Given the description of an element on the screen output the (x, y) to click on. 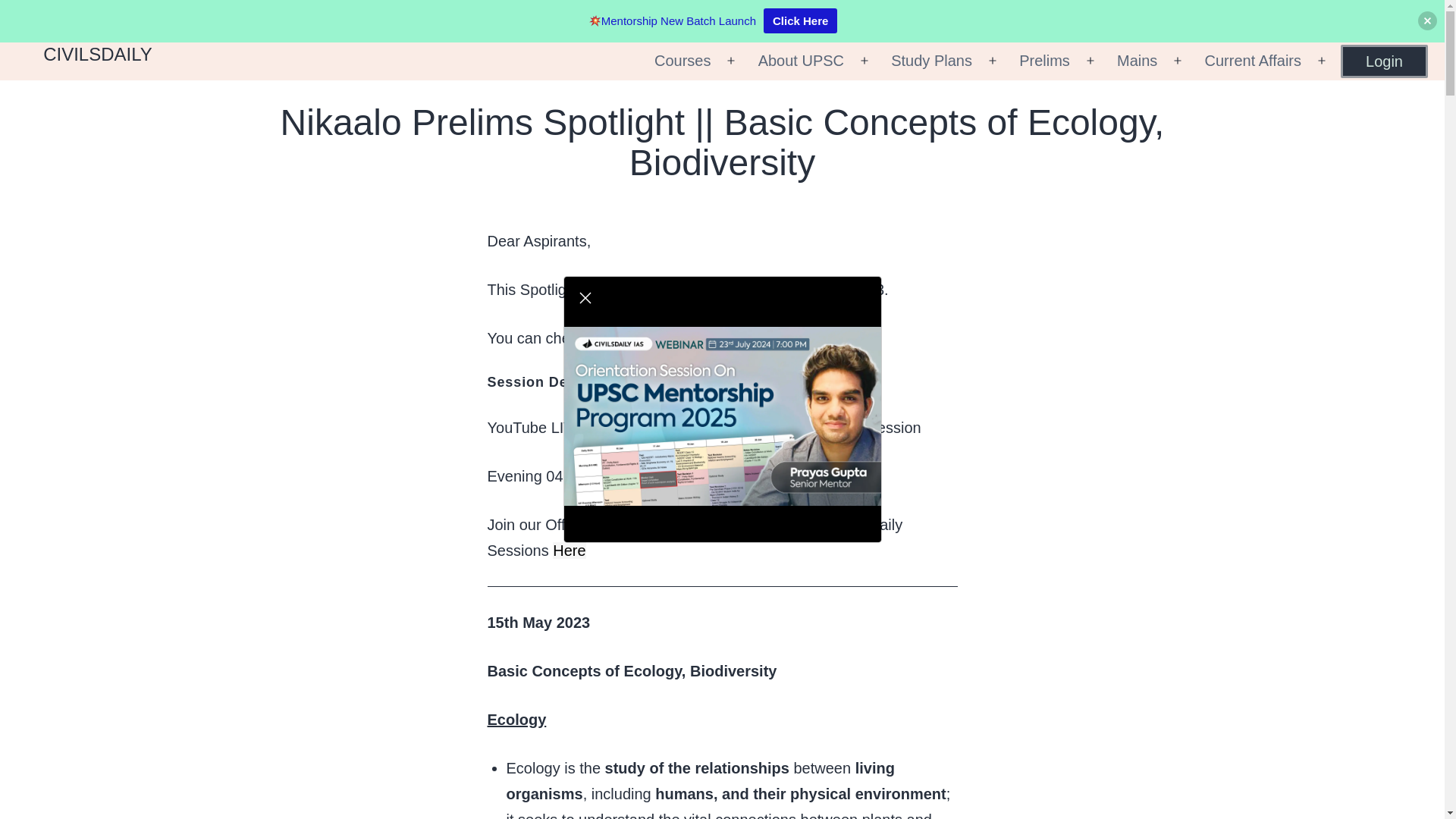
Study Plans (930, 61)
Mains (1136, 61)
About UPSC (800, 61)
Prelims (1044, 61)
Courses (682, 61)
CIVILSDAILY (97, 54)
Current Affairs (1252, 61)
